Given the description of an element on the screen output the (x, y) to click on. 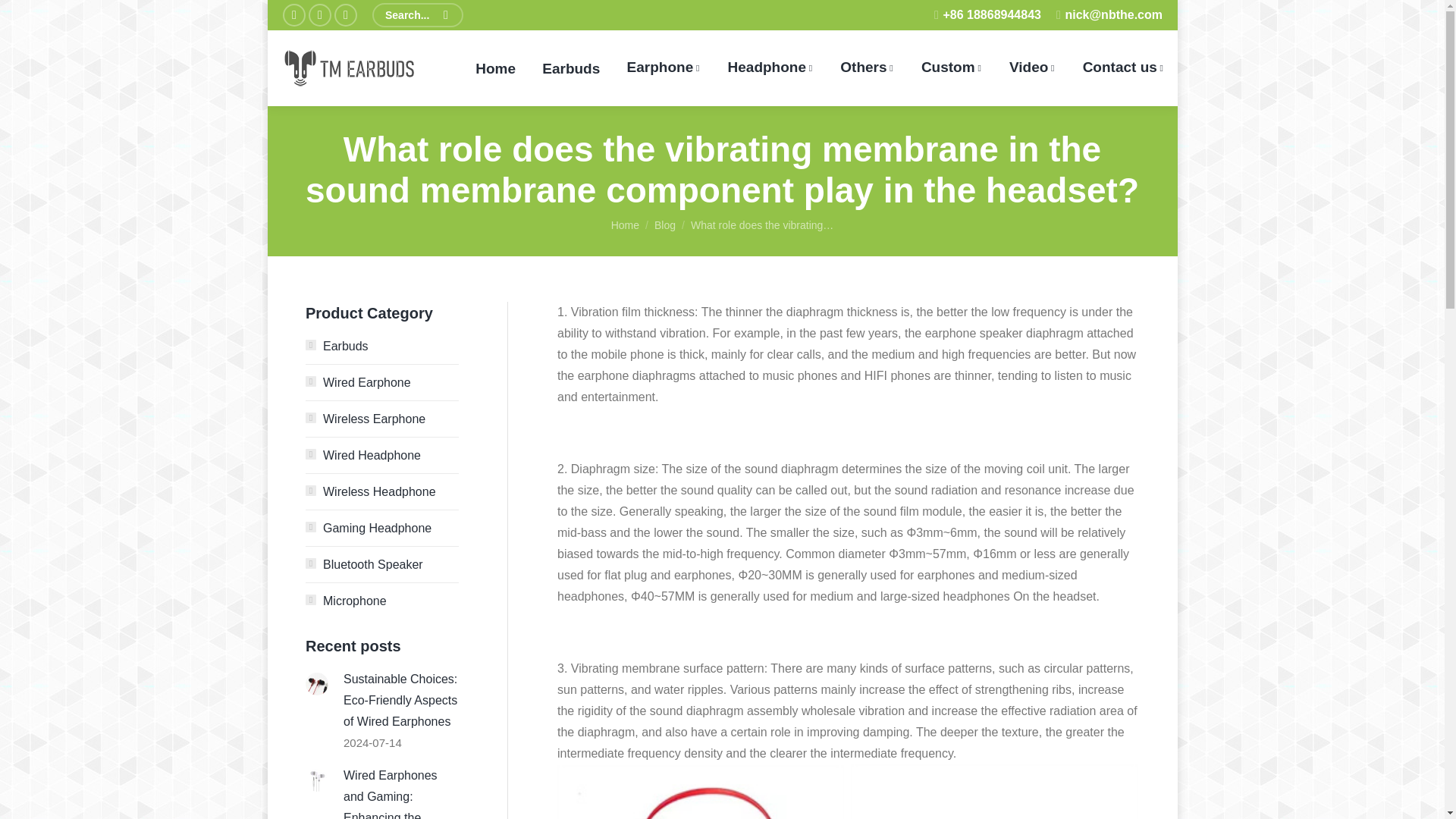
Video (1031, 68)
Earphone (662, 68)
Twitter (318, 15)
Dribbble (344, 15)
Facebook (293, 15)
Dribbble (344, 15)
Others (867, 68)
Twitter (318, 15)
Custom (950, 68)
Go! (30, 15)
Facebook (293, 15)
Headphone (770, 68)
Earbuds (570, 68)
